Given the description of an element on the screen output the (x, y) to click on. 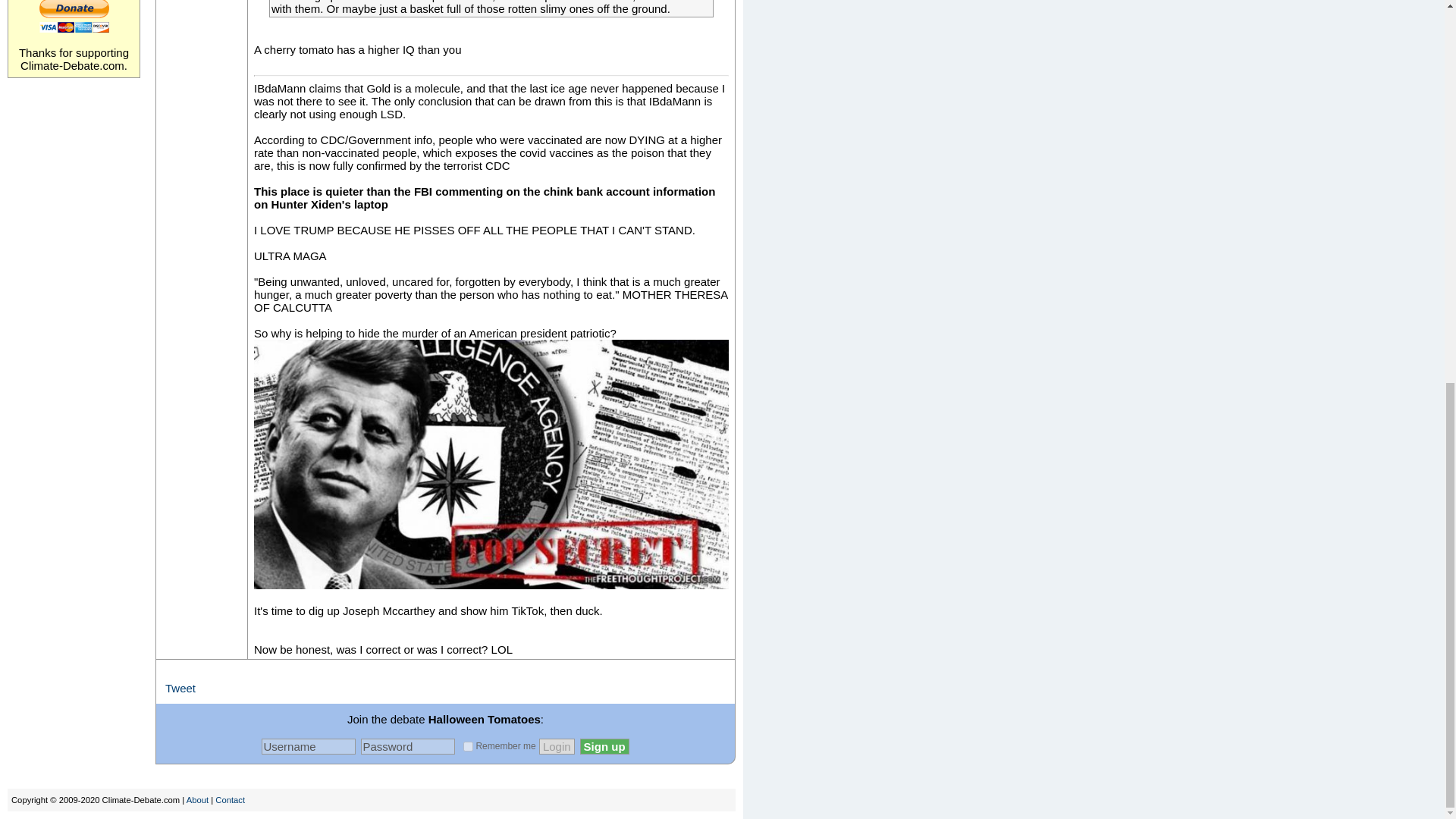
About (197, 799)
Username (308, 746)
Contact (229, 799)
Login (556, 746)
Secure donations with Paypal or credit card (74, 16)
Sign up (603, 746)
Tweet (180, 687)
Login (556, 746)
Sign up (603, 746)
y (468, 746)
Password (407, 746)
Fill in the fields to the left and click here to log in (556, 746)
